Given the description of an element on the screen output the (x, y) to click on. 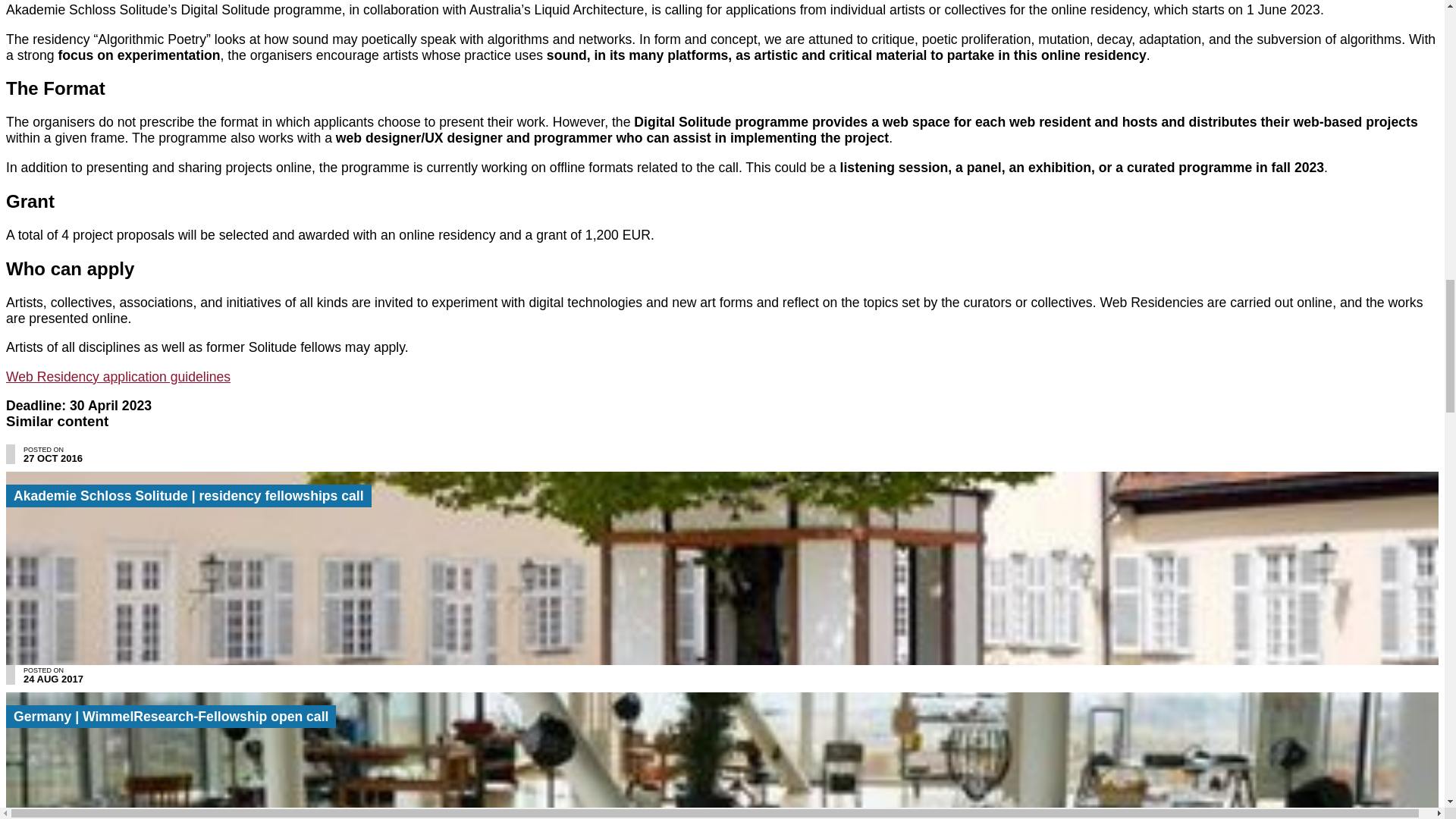
Web Residency application guidelines (117, 376)
